Given the description of an element on the screen output the (x, y) to click on. 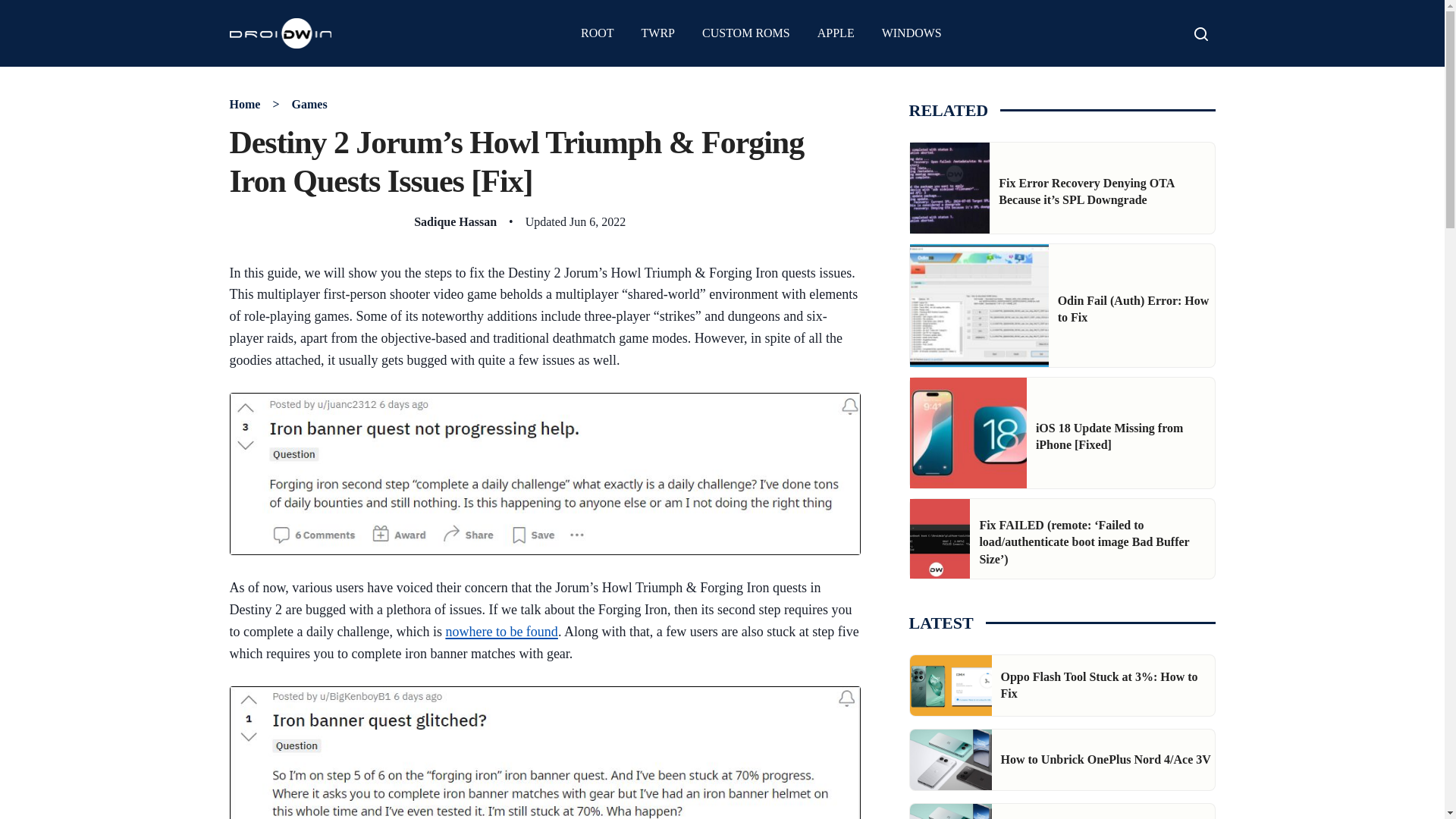
Home (244, 103)
Droidwin (279, 33)
Games (308, 103)
TWRP (658, 33)
Sadique Hassan (454, 221)
nowhere to be found (501, 631)
APPLE (835, 33)
WINDOWS (912, 33)
CUSTOM ROMS (745, 33)
ROOT (597, 33)
